Given the description of an element on the screen output the (x, y) to click on. 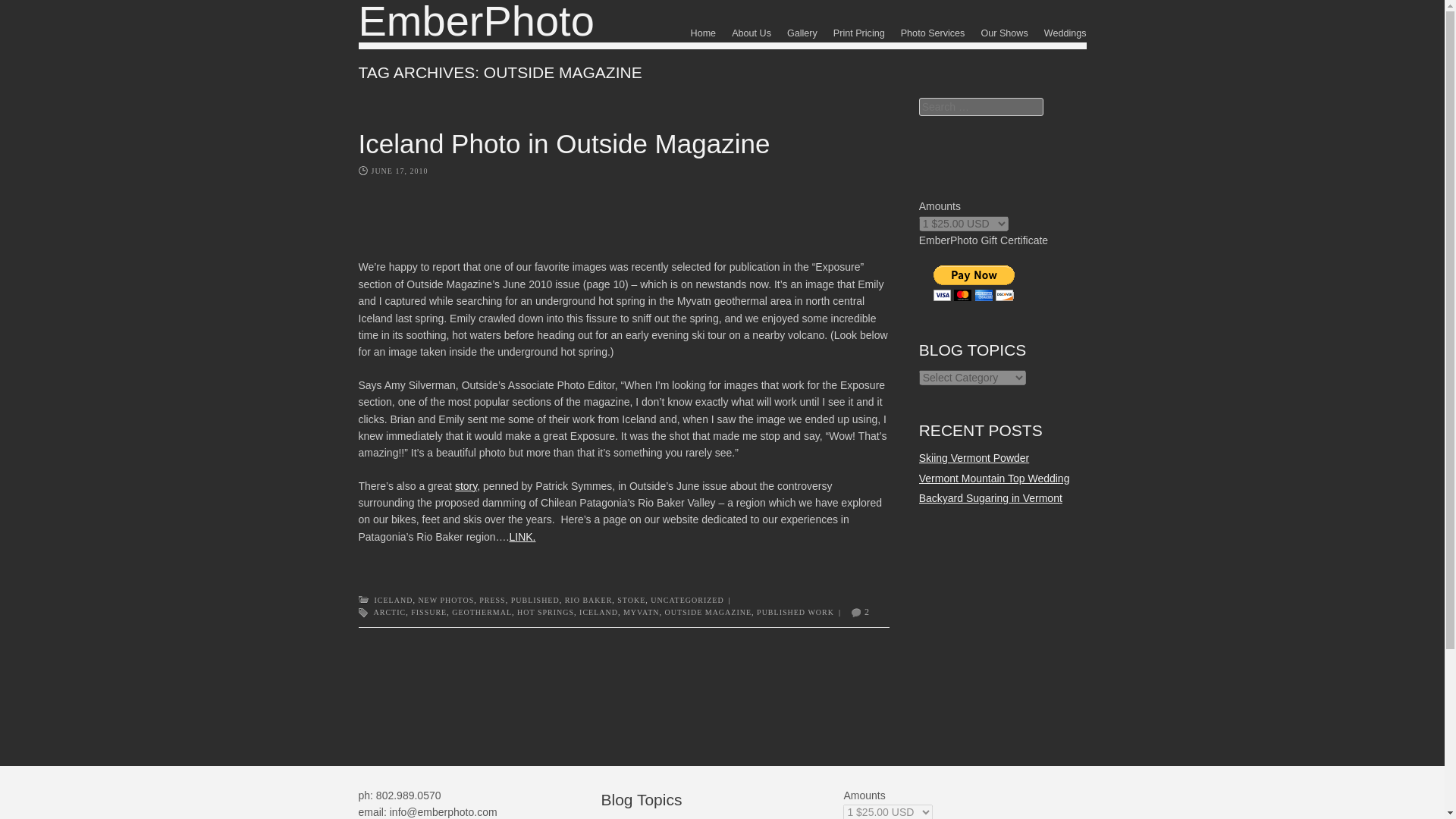
Photo Services (933, 33)
Skip to content (706, 29)
Print Pricing (858, 33)
Gallery (801, 33)
4:57 am (399, 171)
About Us (751, 33)
EmberPhoto (476, 22)
Our Shows (1003, 33)
Home (703, 33)
Weddings (1064, 33)
